Given the description of an element on the screen output the (x, y) to click on. 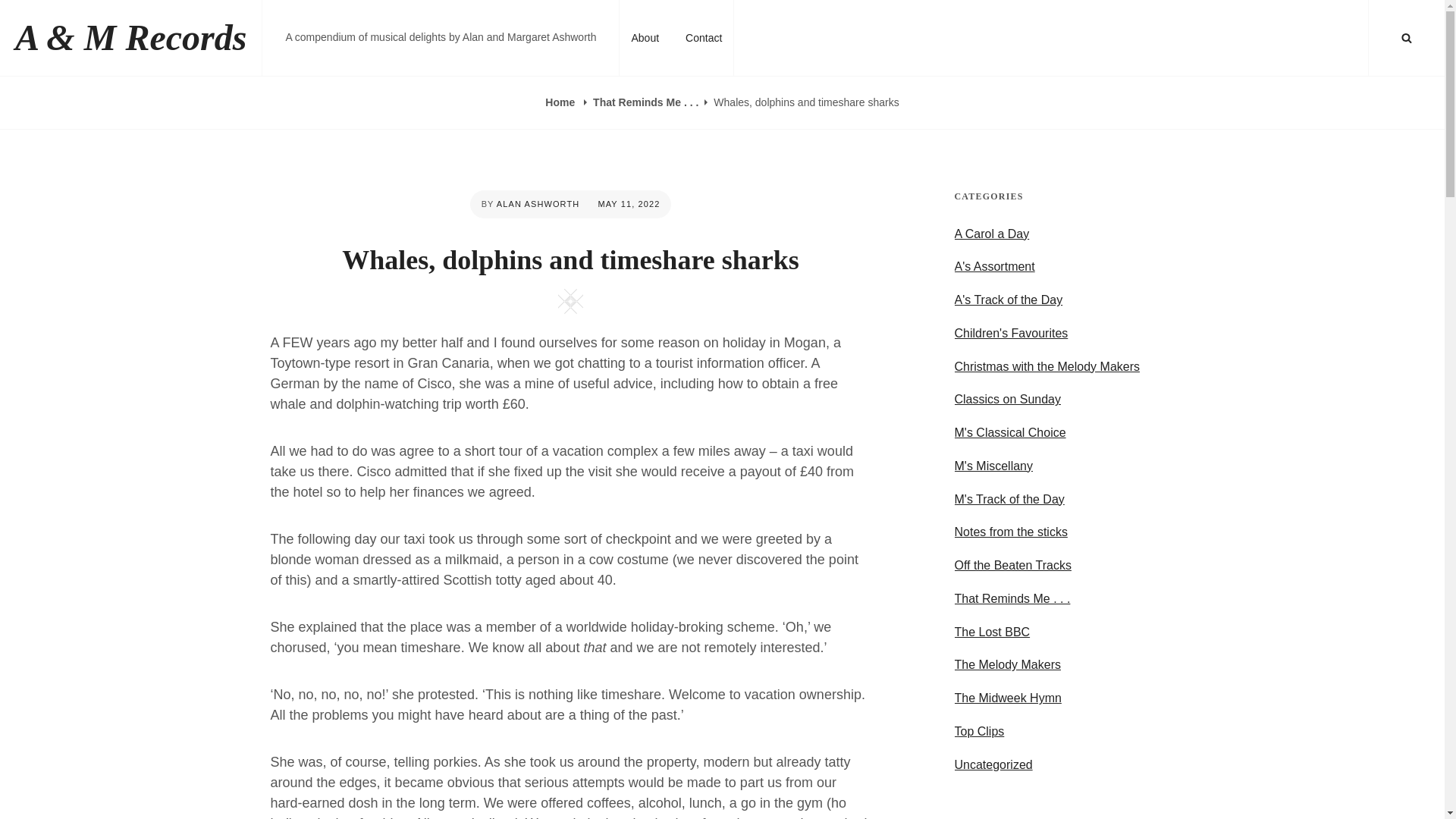
M's Miscellany (992, 466)
Uncategorized (992, 765)
That Reminds Me . . . (1011, 598)
ALAN ASHWORTH (537, 203)
That Reminds Me . . . (645, 102)
MAY 11, 2022 (627, 203)
M's Classical Choice (1009, 432)
Christmas with the Melody Makers (1046, 366)
The Melody Makers (1007, 664)
Children's Favourites (1010, 333)
